Given the description of an element on the screen output the (x, y) to click on. 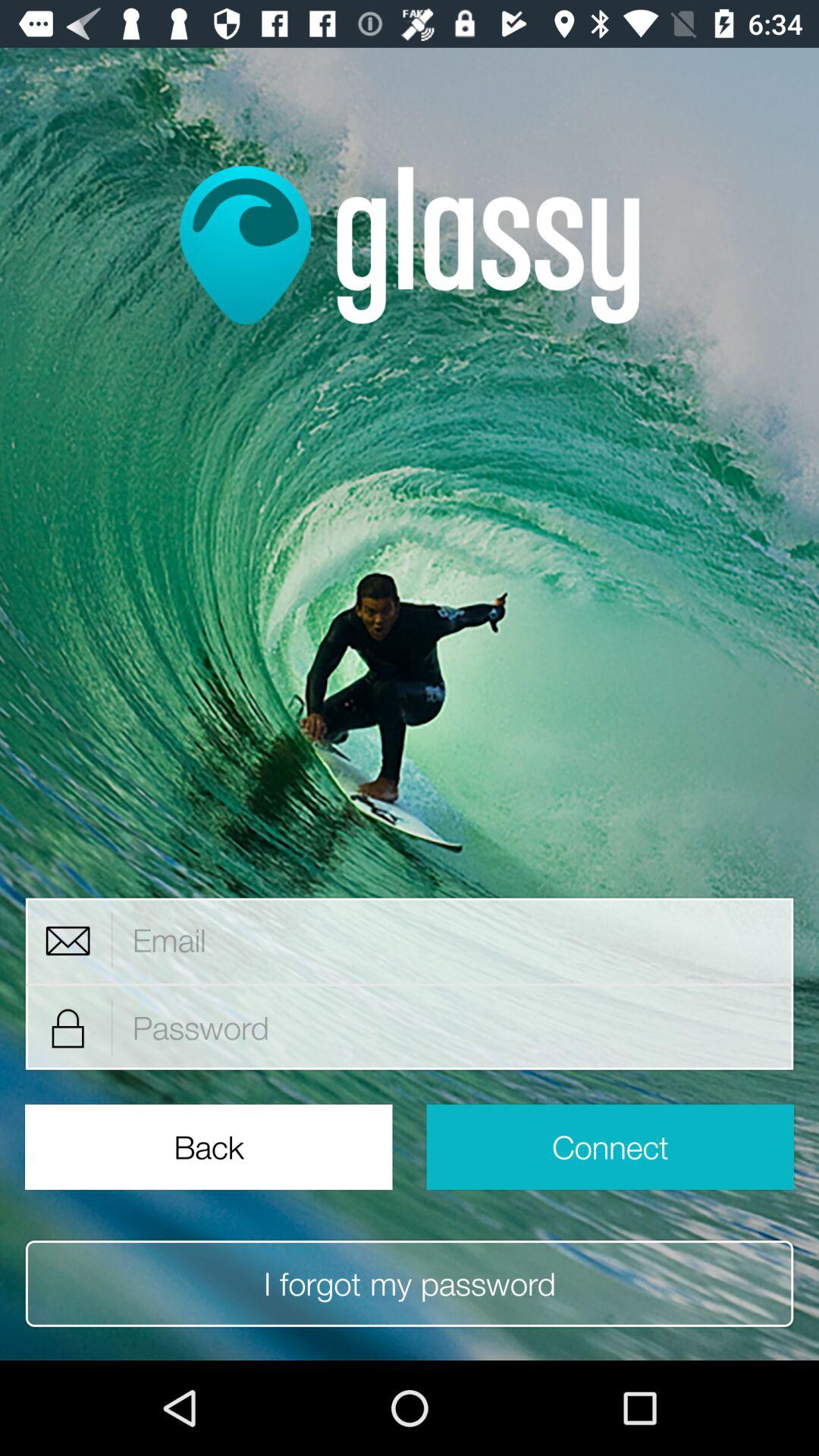
launch the item below the back (409, 1283)
